Given the description of an element on the screen output the (x, y) to click on. 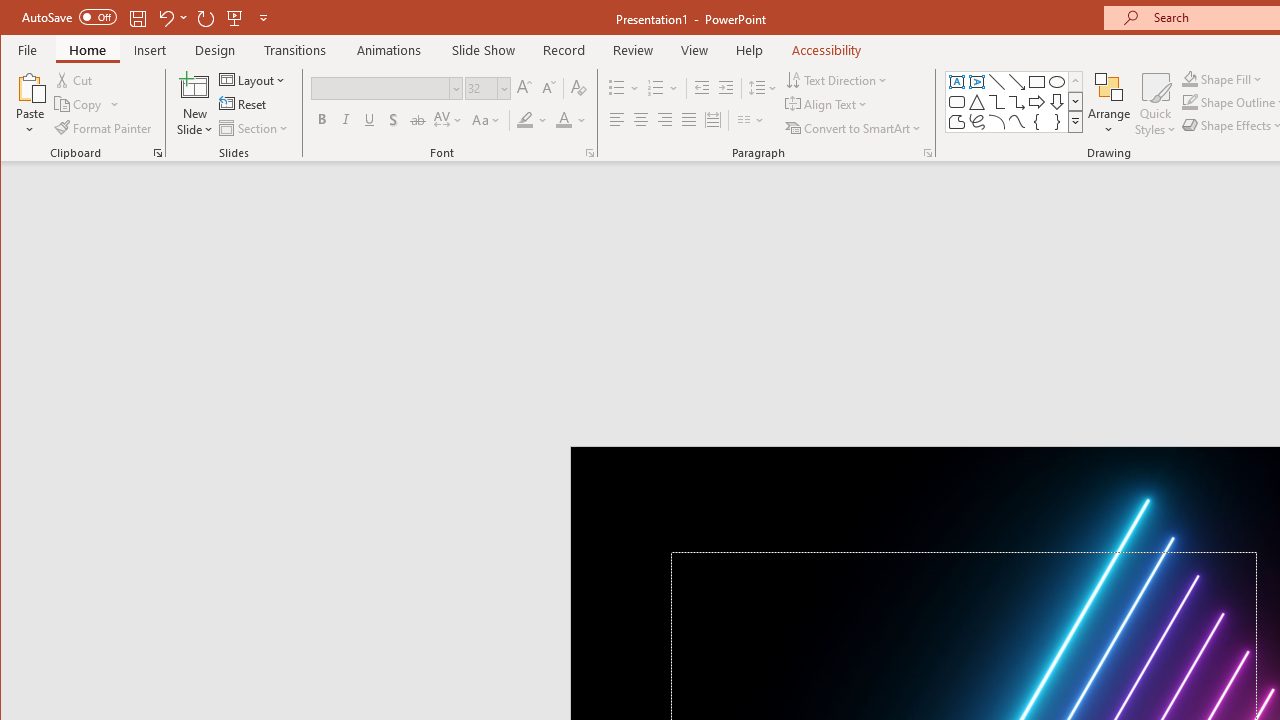
Shadow (393, 119)
Center (640, 119)
Line Spacing (764, 88)
Increase Font Size (524, 88)
